Given the description of an element on the screen output the (x, y) to click on. 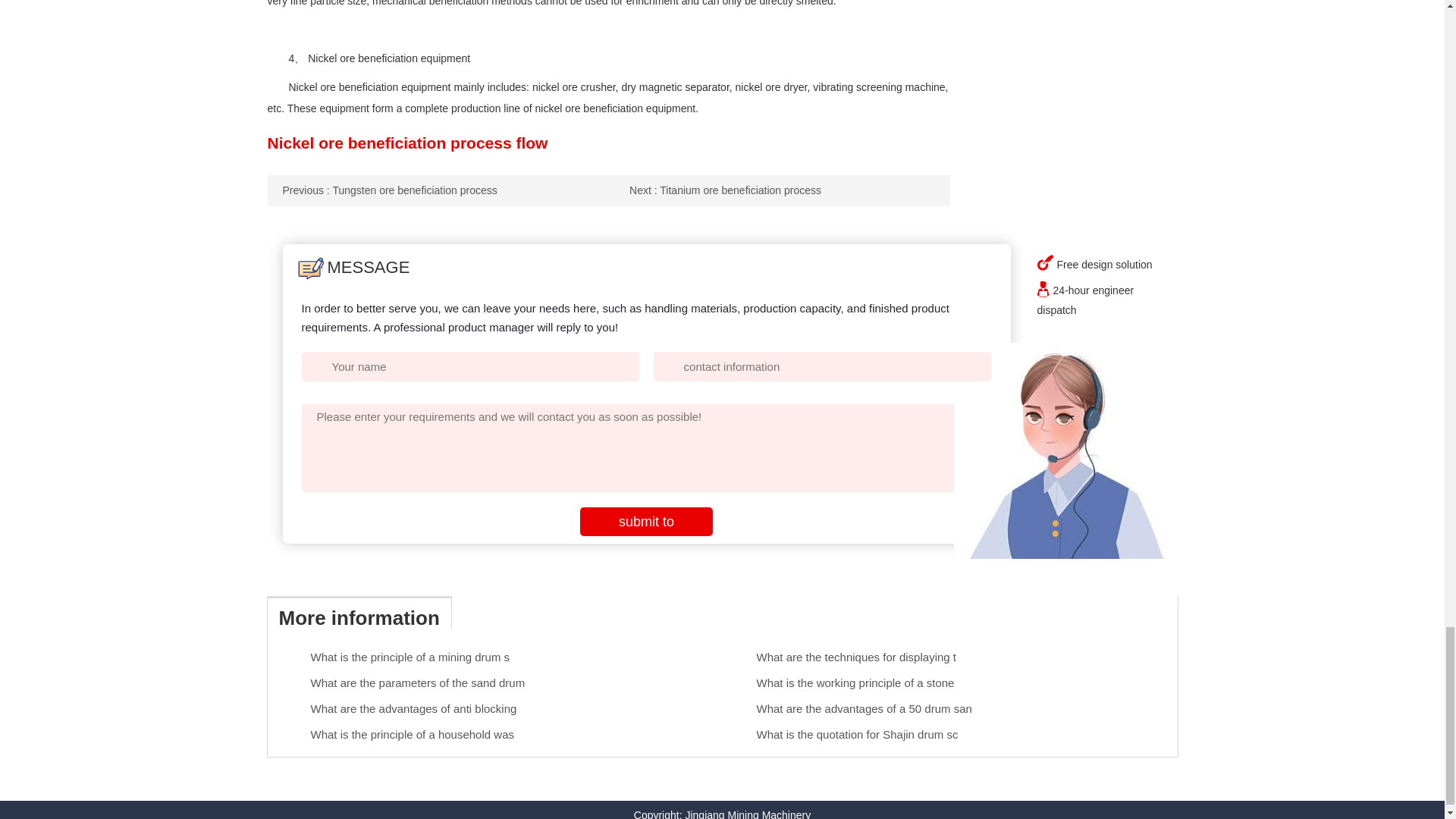
submit to (646, 521)
What is the principle of a mining drum s (411, 656)
Titanium ore beneficiation process (724, 190)
Previous : Tungsten ore beneficiation process (389, 190)
Tungsten ore beneficiation process (389, 190)
submit to (646, 521)
MESSAGE (353, 266)
Next : Titanium ore beneficiation process (724, 190)
What are the techniques for displaying t (856, 656)
